Given the description of an element on the screen output the (x, y) to click on. 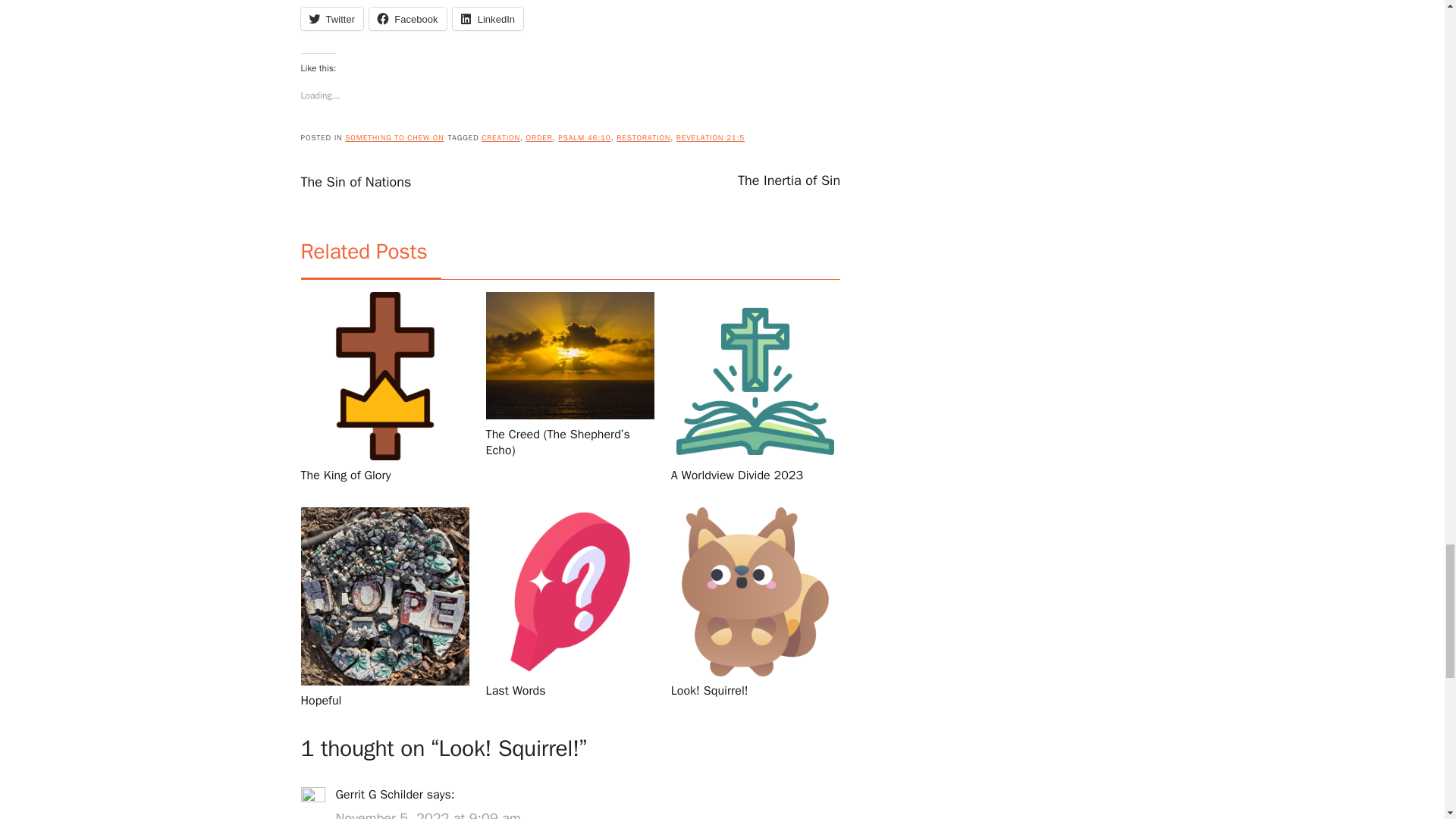
Click to share on Twitter (330, 18)
The King of Glory (383, 475)
CREATION (500, 137)
The Sin of Nations (354, 181)
Hopeful (383, 700)
Click to share on Facebook (407, 18)
LinkedIn (488, 18)
Facebook (407, 18)
SOMETHING TO CHEW ON (394, 137)
The Inertia of Sin (789, 180)
RESTORATION (642, 137)
Twitter (330, 18)
A Worldview Divide 2023 (755, 475)
Last Words (570, 691)
REVELATION 21:5 (710, 137)
